Given the description of an element on the screen output the (x, y) to click on. 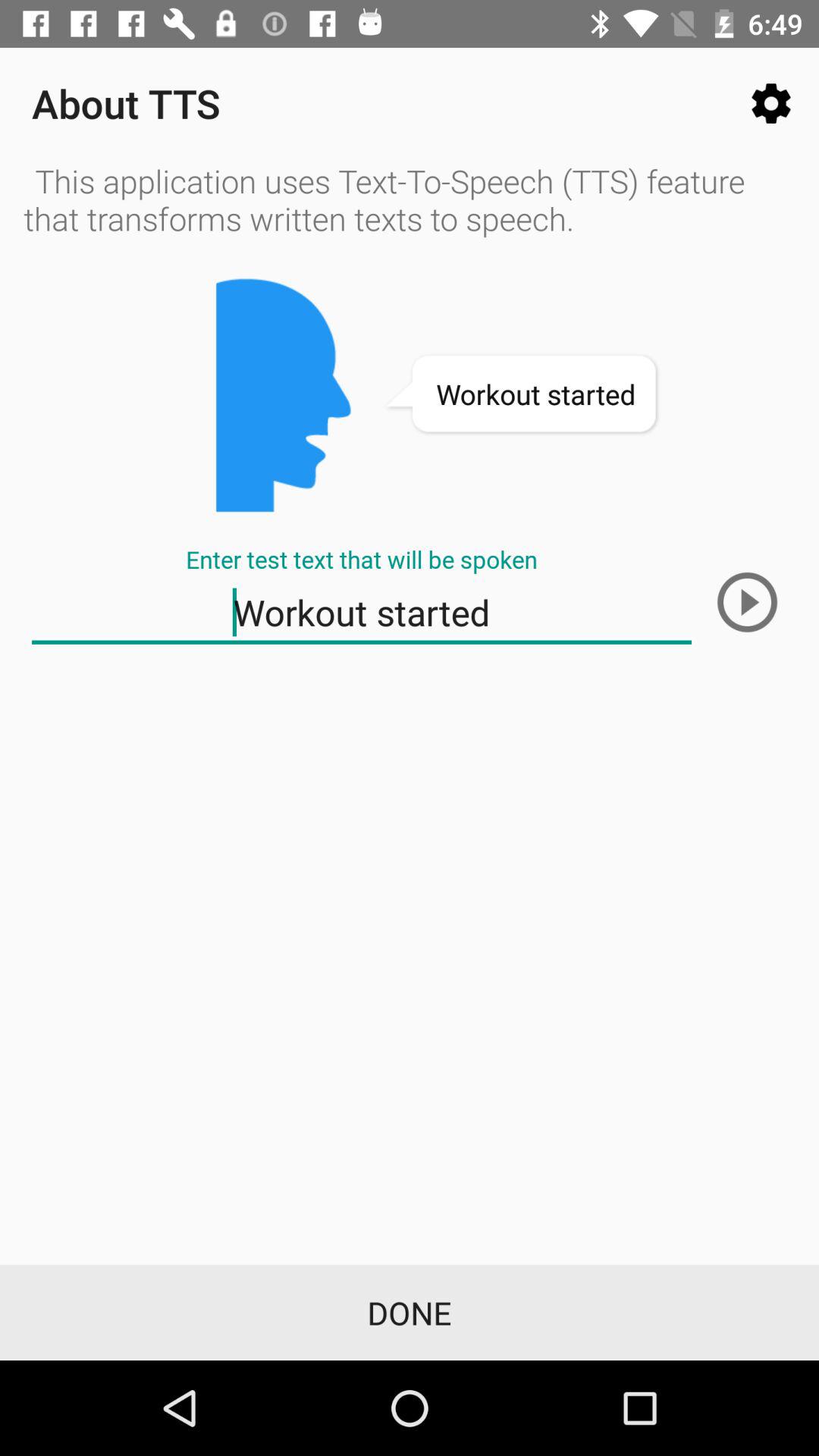
toggle play option (747, 602)
